Given the description of an element on the screen output the (x, y) to click on. 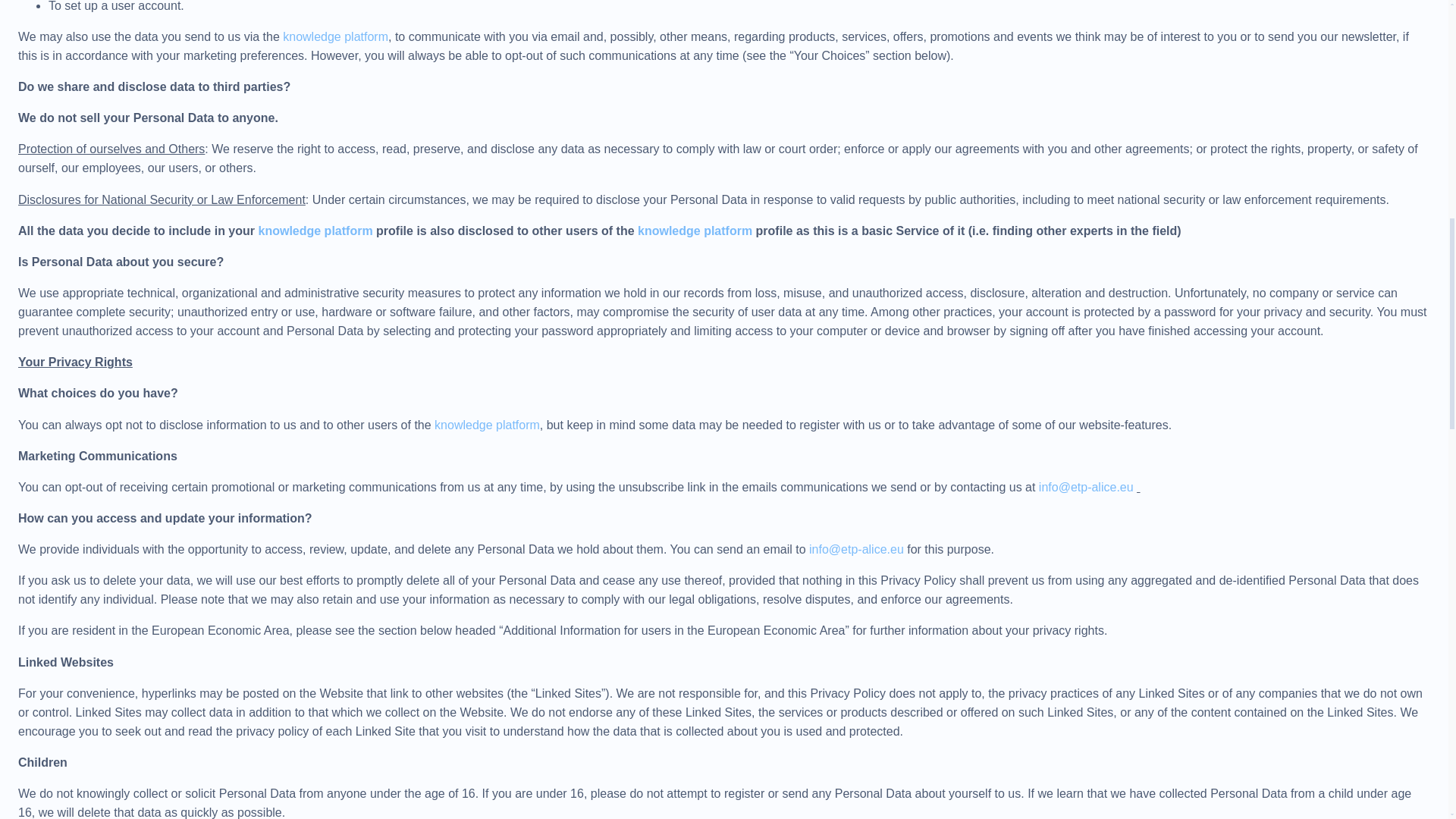
knowledge platform (486, 424)
knowledge platform (694, 230)
knowledge platform (314, 230)
knowledge platform (335, 36)
